Given the description of an element on the screen output the (x, y) to click on. 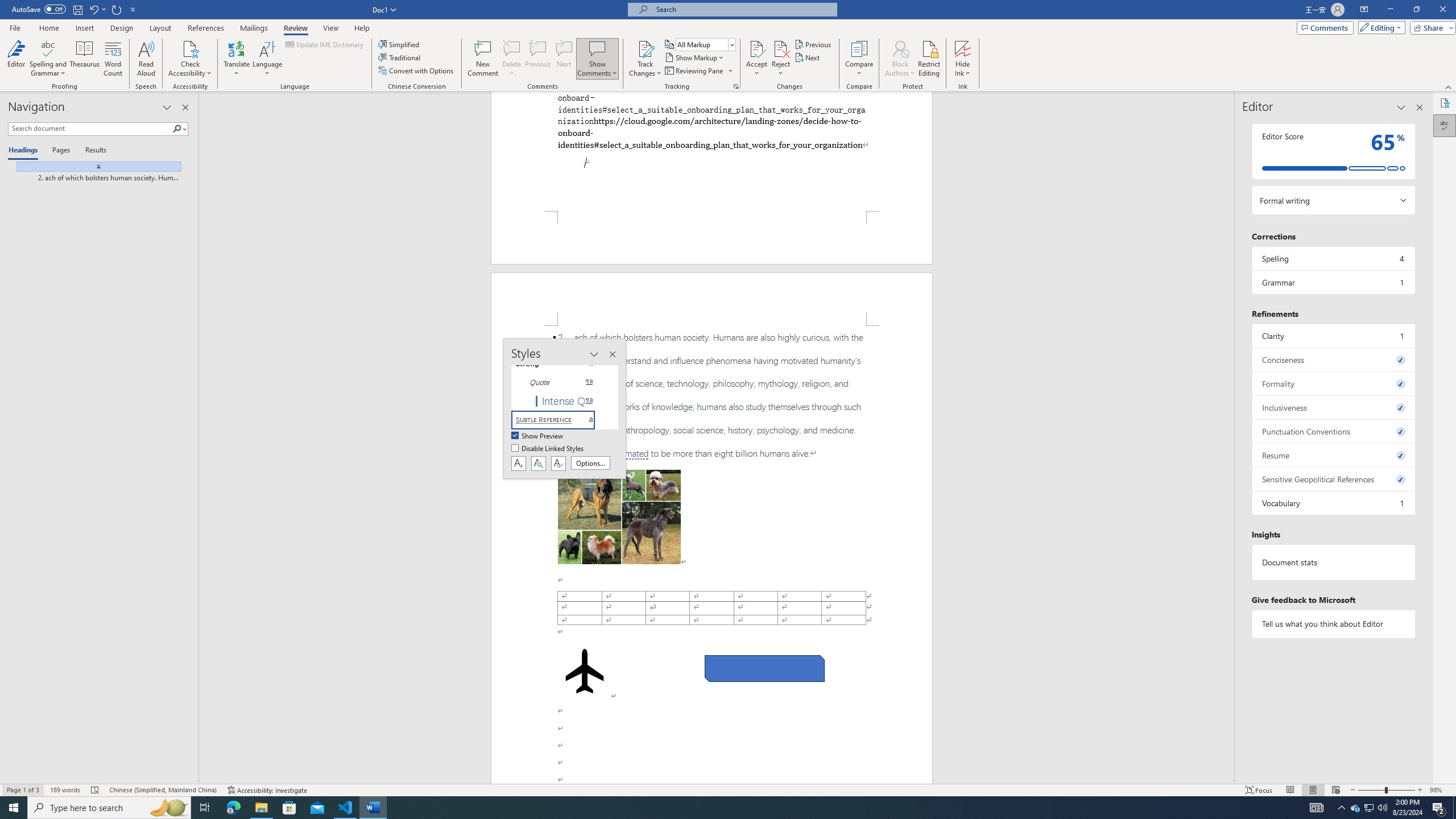
Check Accessibility (189, 58)
Header -Section 1- (711, 298)
Convert with Options... (417, 69)
Show Preview (537, 436)
Headings (25, 150)
Accessibility Checker Accessibility: Investigate (266, 790)
Delete (511, 58)
Hide Ink (962, 58)
Accessibility (1444, 102)
Class: NetUIScrollBar (1229, 437)
Footer -Section 1- (711, 237)
